Given the description of an element on the screen output the (x, y) to click on. 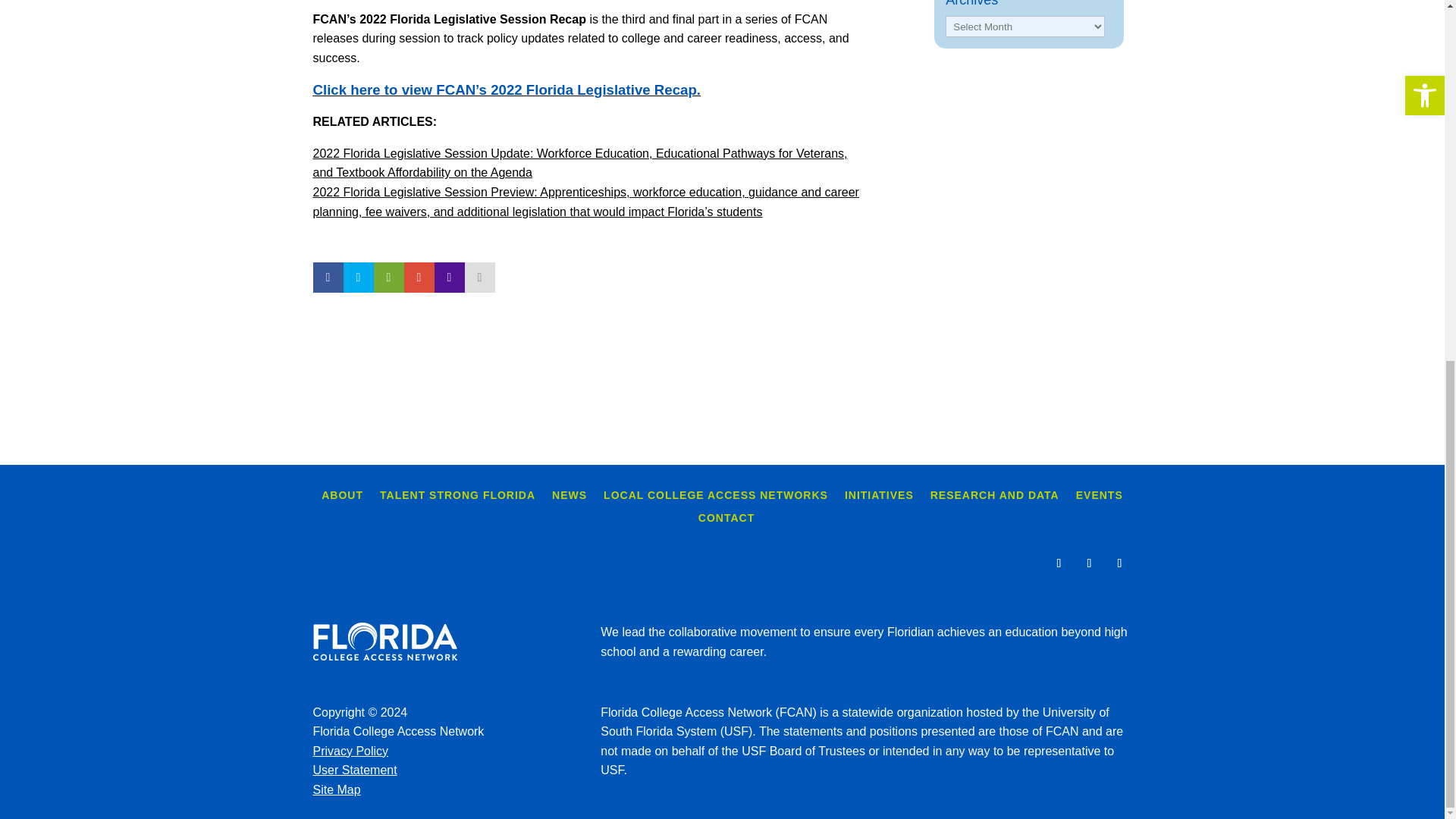
Follow on Facebook (1058, 563)
Follow on Telegram (1118, 563)
FLORIDA CAN reverse-min (385, 641)
Follow on X (1088, 563)
